Given the description of an element on the screen output the (x, y) to click on. 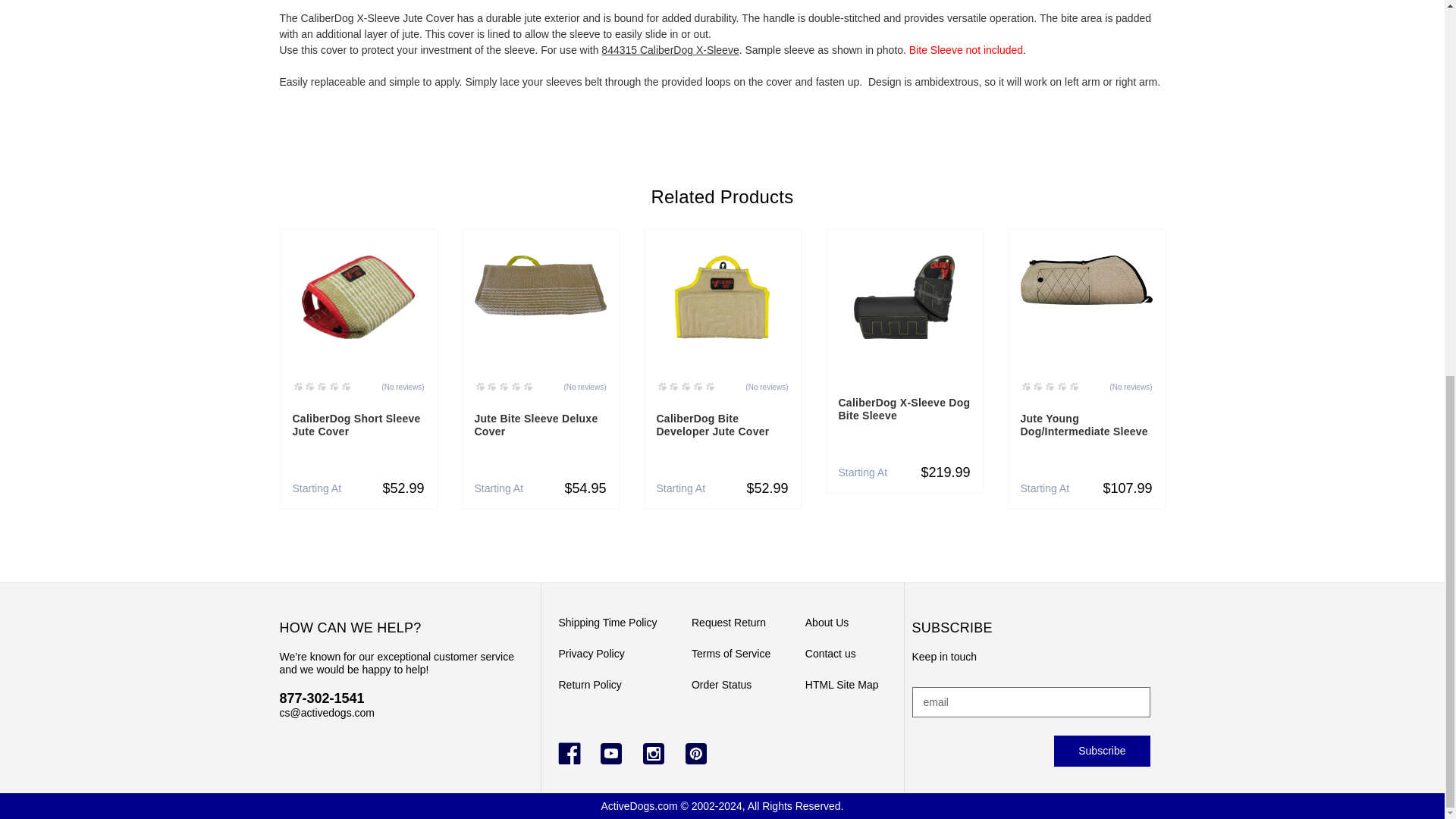
Subscribe (1102, 750)
